Given the description of an element on the screen output the (x, y) to click on. 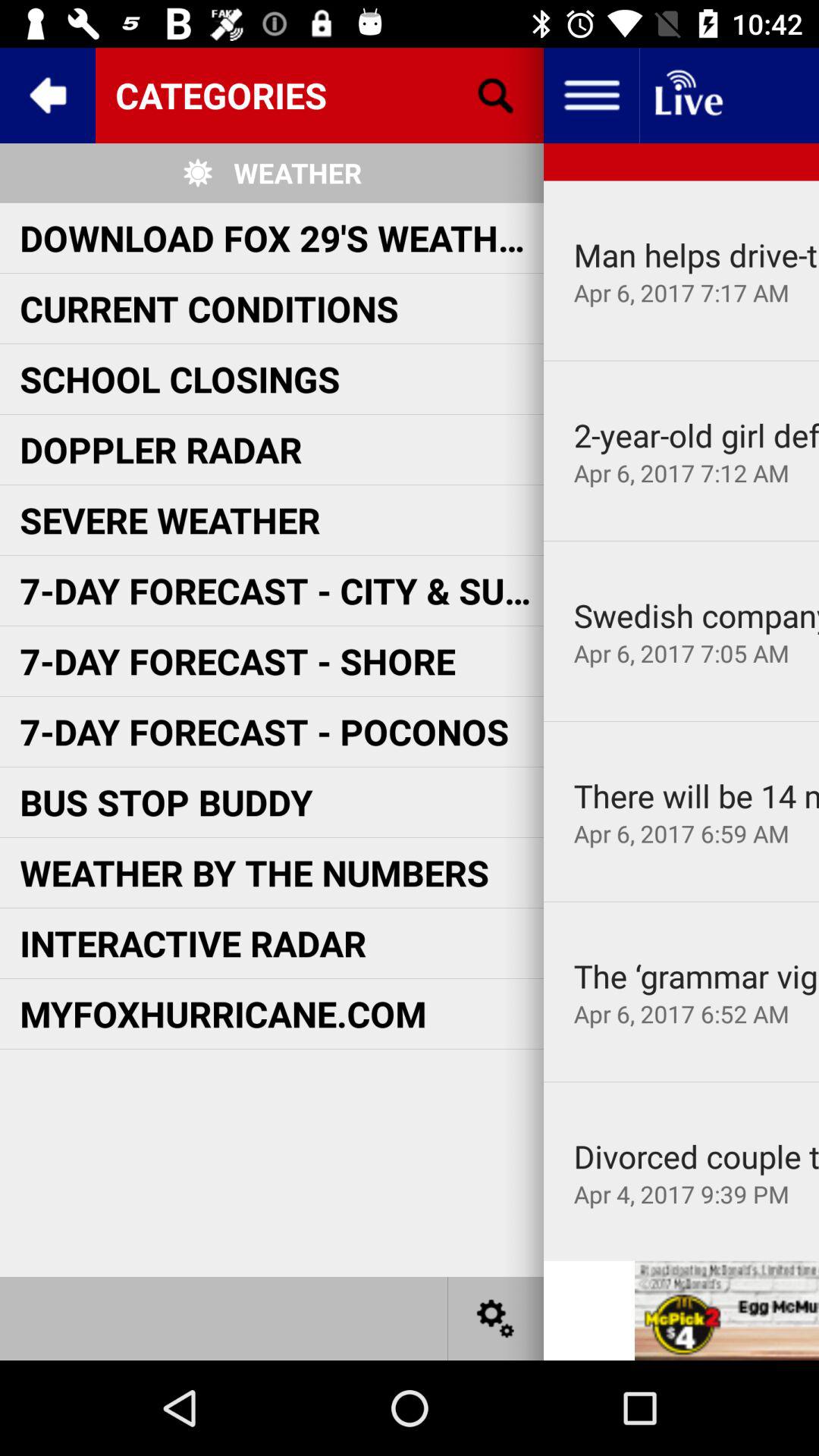
tap doppler radar (160, 449)
